Given the description of an element on the screen output the (x, y) to click on. 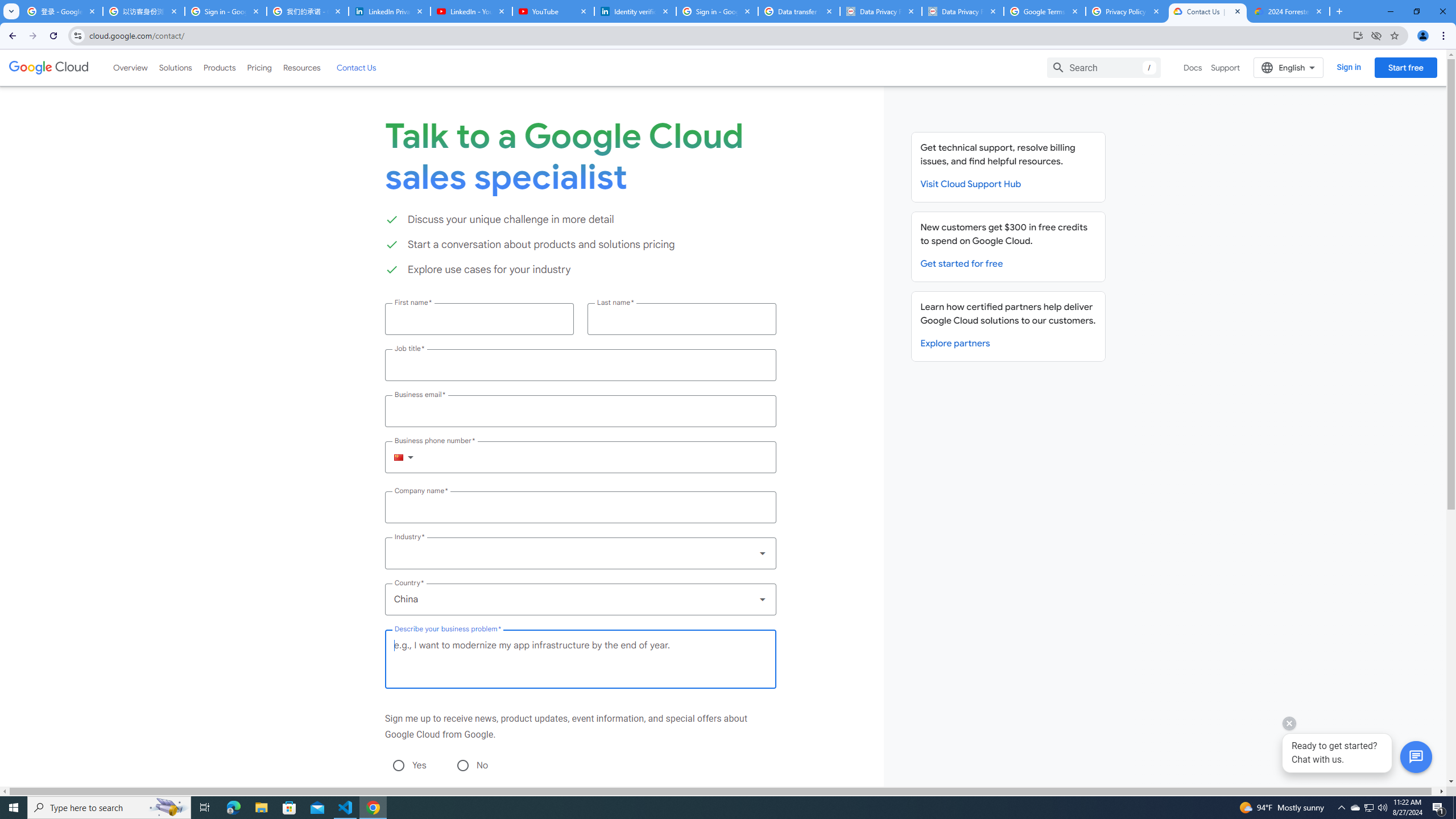
No (462, 764)
Describe your business problem * (580, 658)
Data Privacy Framework (880, 11)
Resources (301, 67)
LinkedIn - YouTube (470, 11)
Job title * (580, 364)
